Given the description of an element on the screen output the (x, y) to click on. 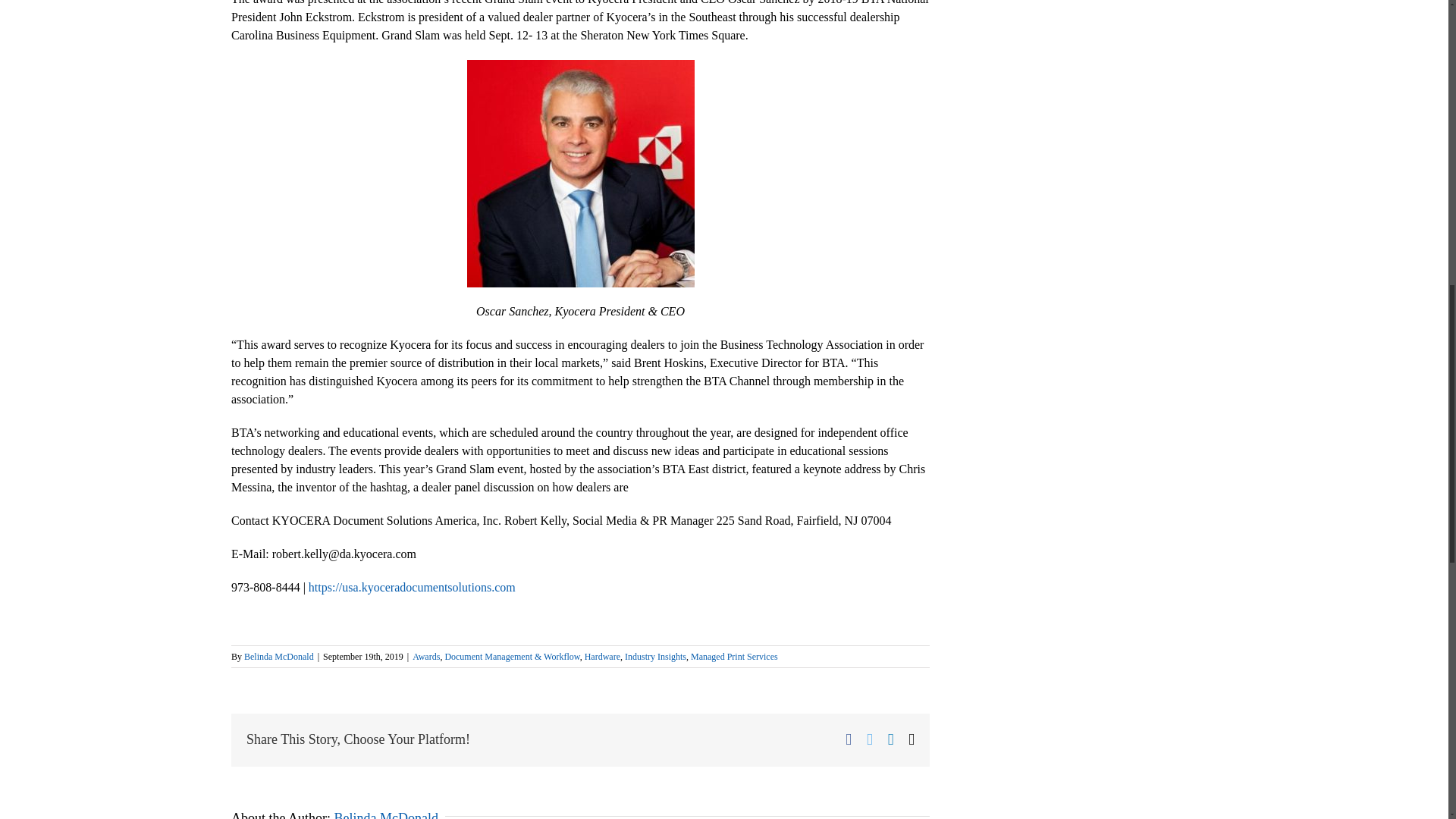
Posts by Belinda McDonald (279, 656)
Managed Print Services (733, 656)
Oscar Sanchez (580, 173)
Awards (425, 656)
Belinda McDonald (385, 814)
Posts by Belinda McDonald (385, 814)
Hardware (602, 656)
Belinda McDonald (279, 656)
Industry Insights (654, 656)
